Given the description of an element on the screen output the (x, y) to click on. 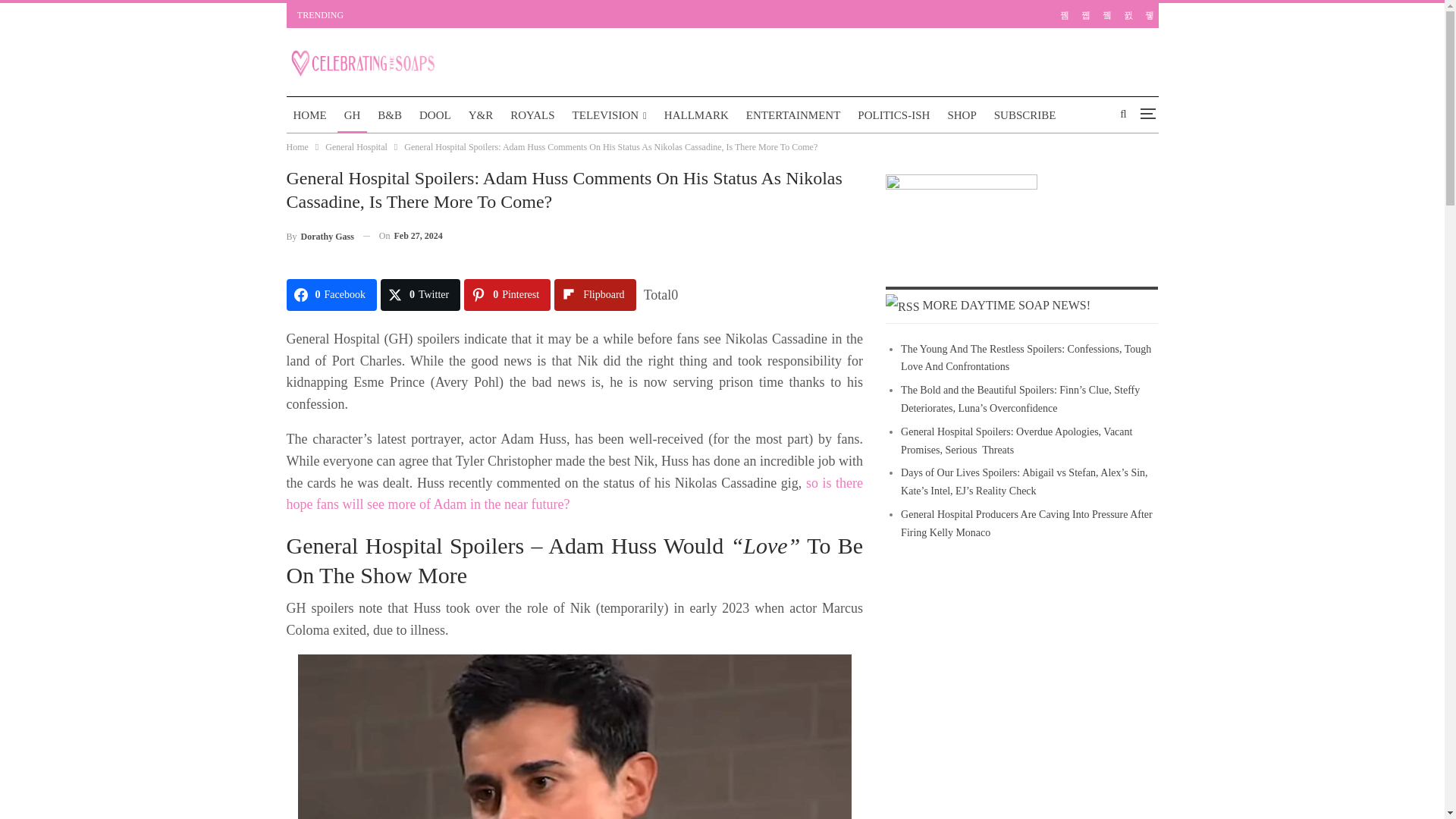
0Facebook (331, 295)
Share on Facebook (331, 295)
Browse Author Articles (319, 236)
Home (297, 146)
SUBSCRIBE (1024, 115)
ROYALS (531, 115)
General Hospital (355, 146)
TELEVISION (609, 115)
Share on Pinterest (507, 295)
SHOP (961, 115)
